Given the description of an element on the screen output the (x, y) to click on. 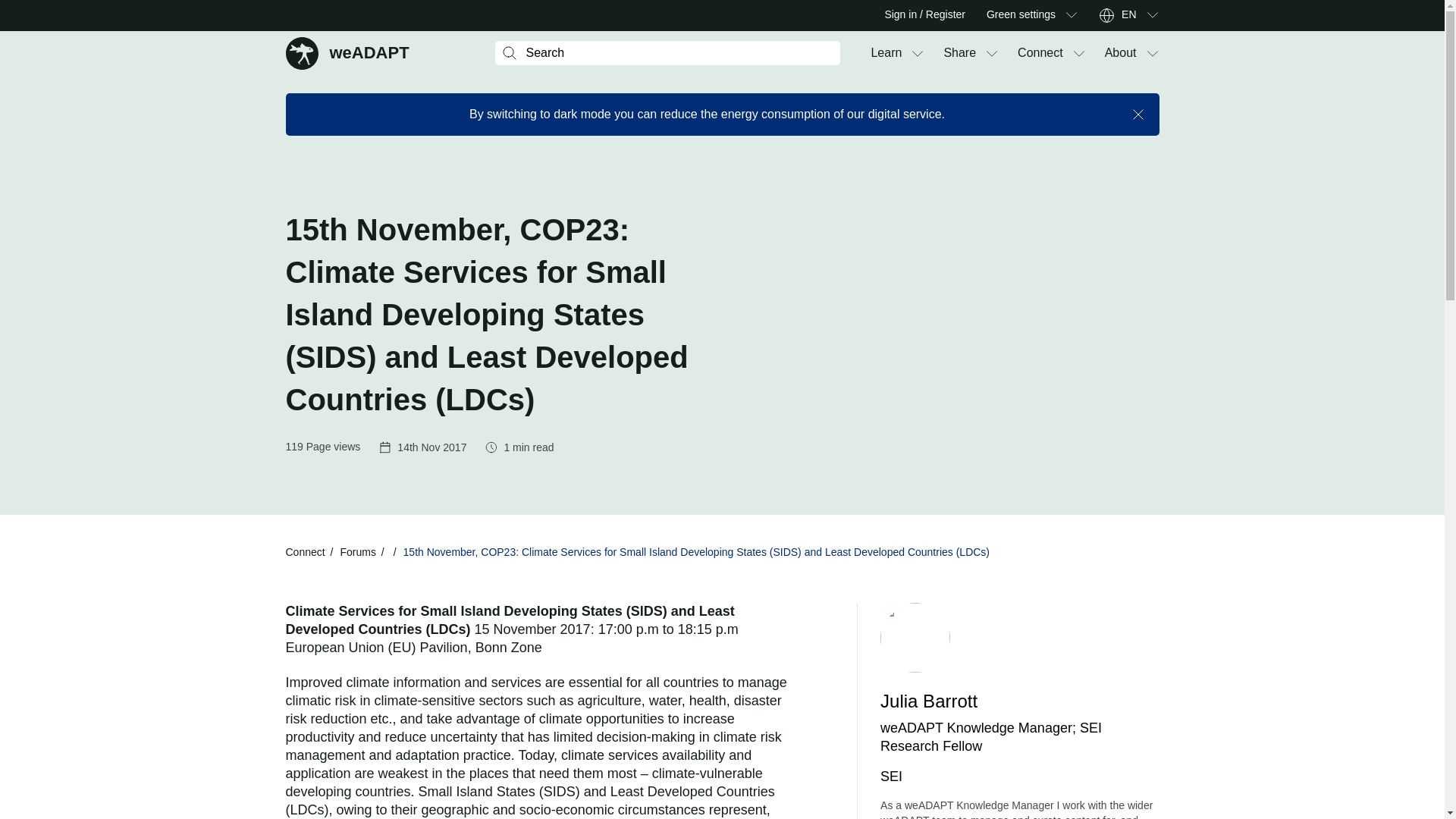
Connect (1039, 53)
Translate Submenu (1151, 14)
Share (959, 53)
Submenu (347, 52)
Learn (1071, 14)
Green settings (885, 53)
EN (1021, 14)
About (1128, 14)
